Given the description of an element on the screen output the (x, y) to click on. 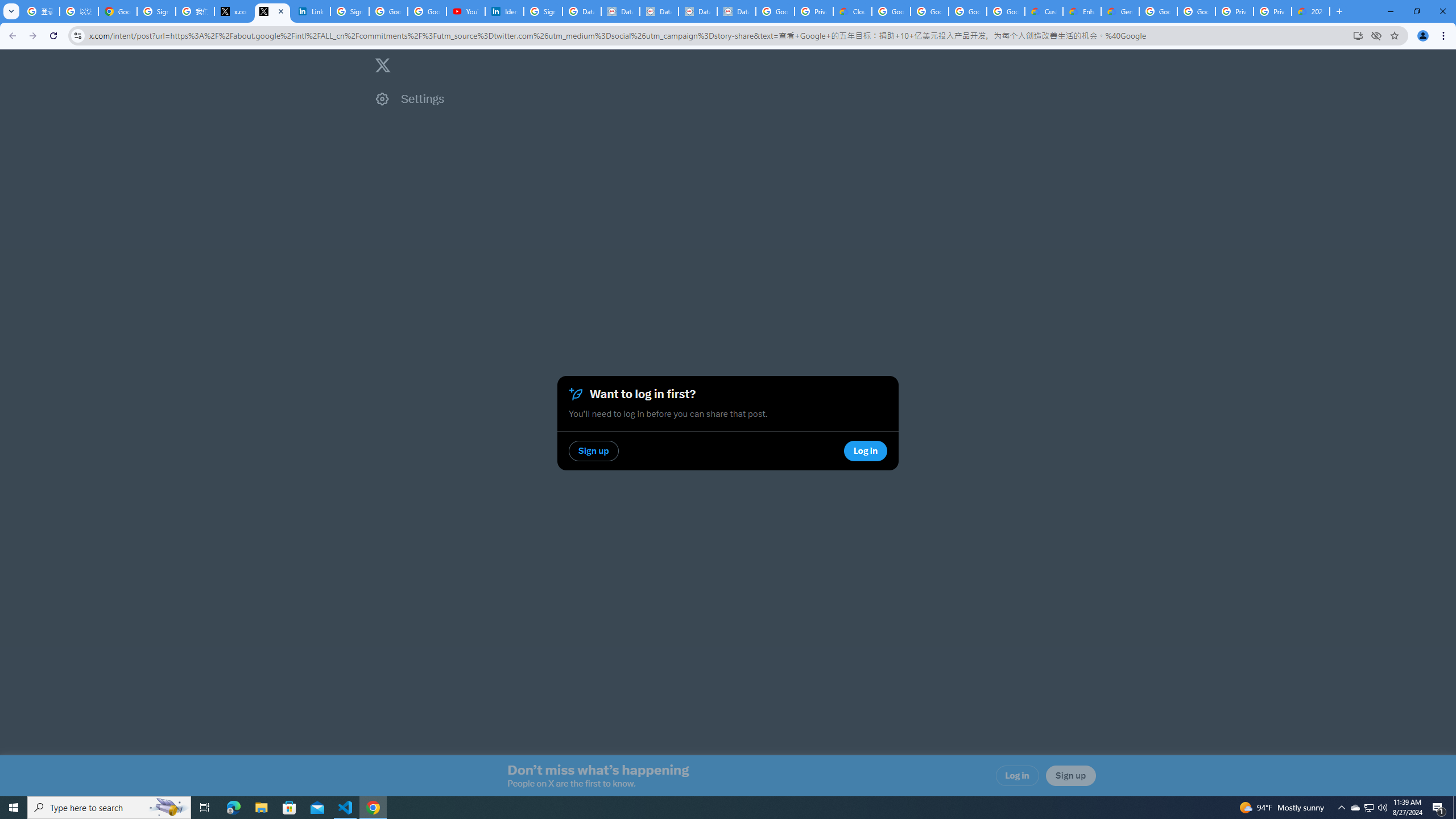
Customer Care | Google Cloud (1043, 11)
Google Workspace - Specific Terms (967, 11)
LinkedIn Privacy Policy (310, 11)
